Given the description of an element on the screen output the (x, y) to click on. 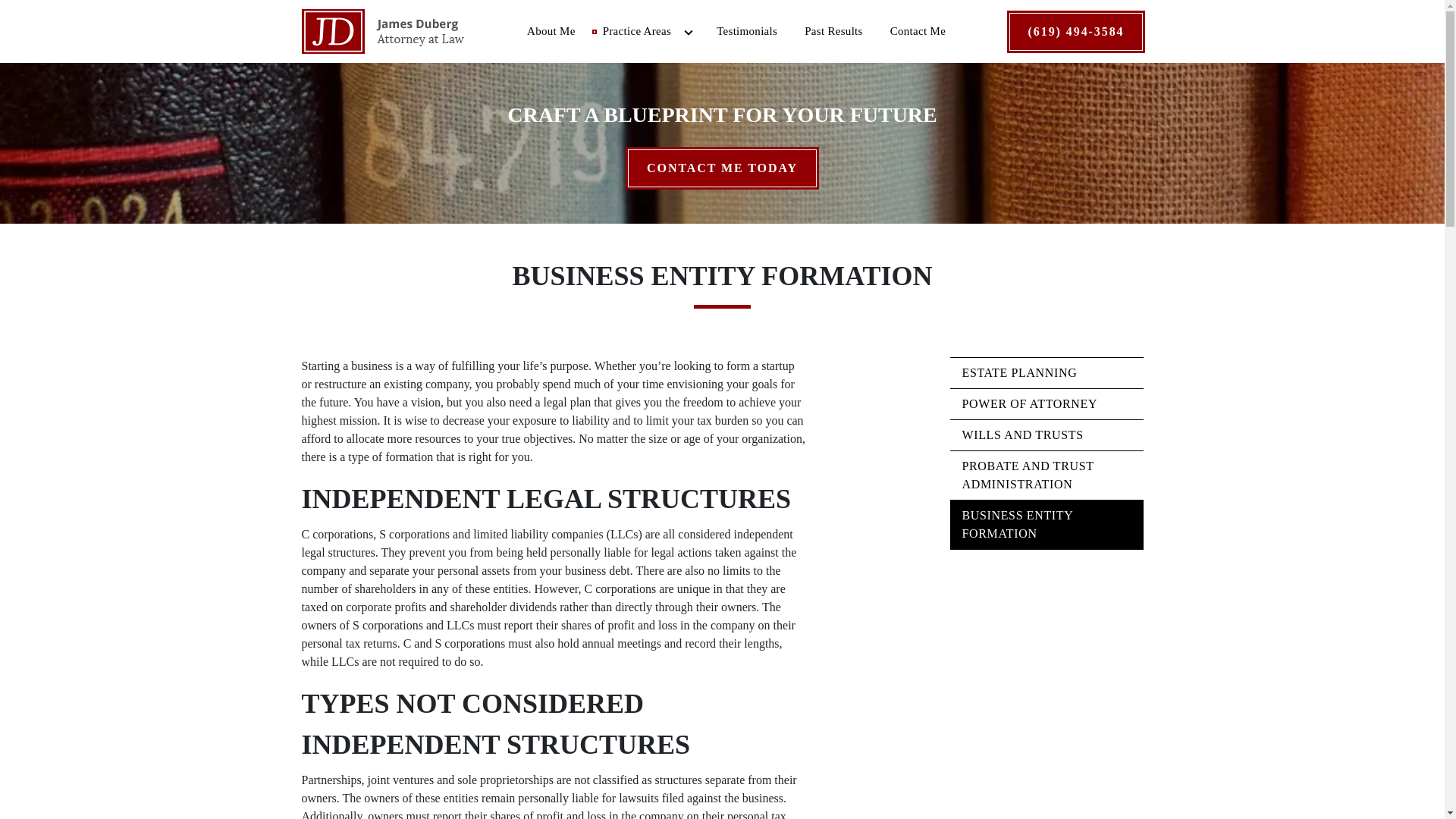
POWER OF ATTORNEY (1045, 404)
WILLS AND TRUSTS (1045, 435)
CONTACT ME TODAY (721, 168)
ESTATE PLANNING (1045, 372)
Contact Me (917, 31)
Practice Areas (630, 31)
About Me (551, 31)
BUSINESS ENTITY FORMATION (1045, 524)
Past Results (833, 31)
PROBATE AND TRUST ADMINISTRATION (1045, 475)
